Given the description of an element on the screen output the (x, y) to click on. 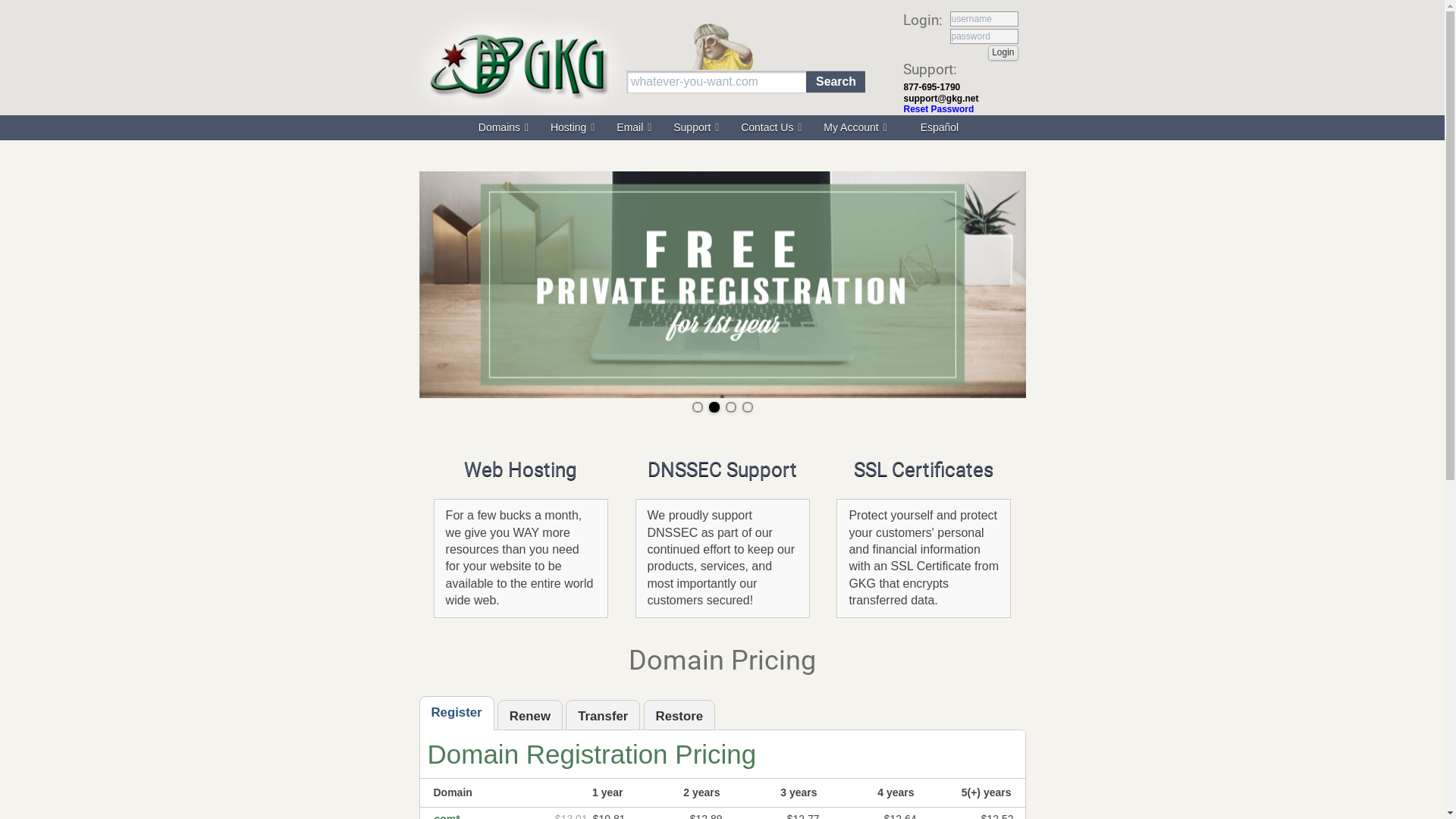
Reset Password Element type: text (938, 108)
support@gkg.net Element type: text (941, 98)
Transfer Element type: text (602, 716)
Login Element type: text (1002, 52)
Register Element type: text (456, 715)
GKG Homepage Element type: hover (516, 125)
SSL Certificates Element type: text (923, 469)
DNSSEC Support Element type: text (721, 469)
Renew Element type: text (530, 716)
Web Hosting Element type: text (520, 469)
Restore Element type: text (679, 716)
GKG.NET Element type: hover (516, 64)
Search Element type: text (836, 81)
